Given the description of an element on the screen output the (x, y) to click on. 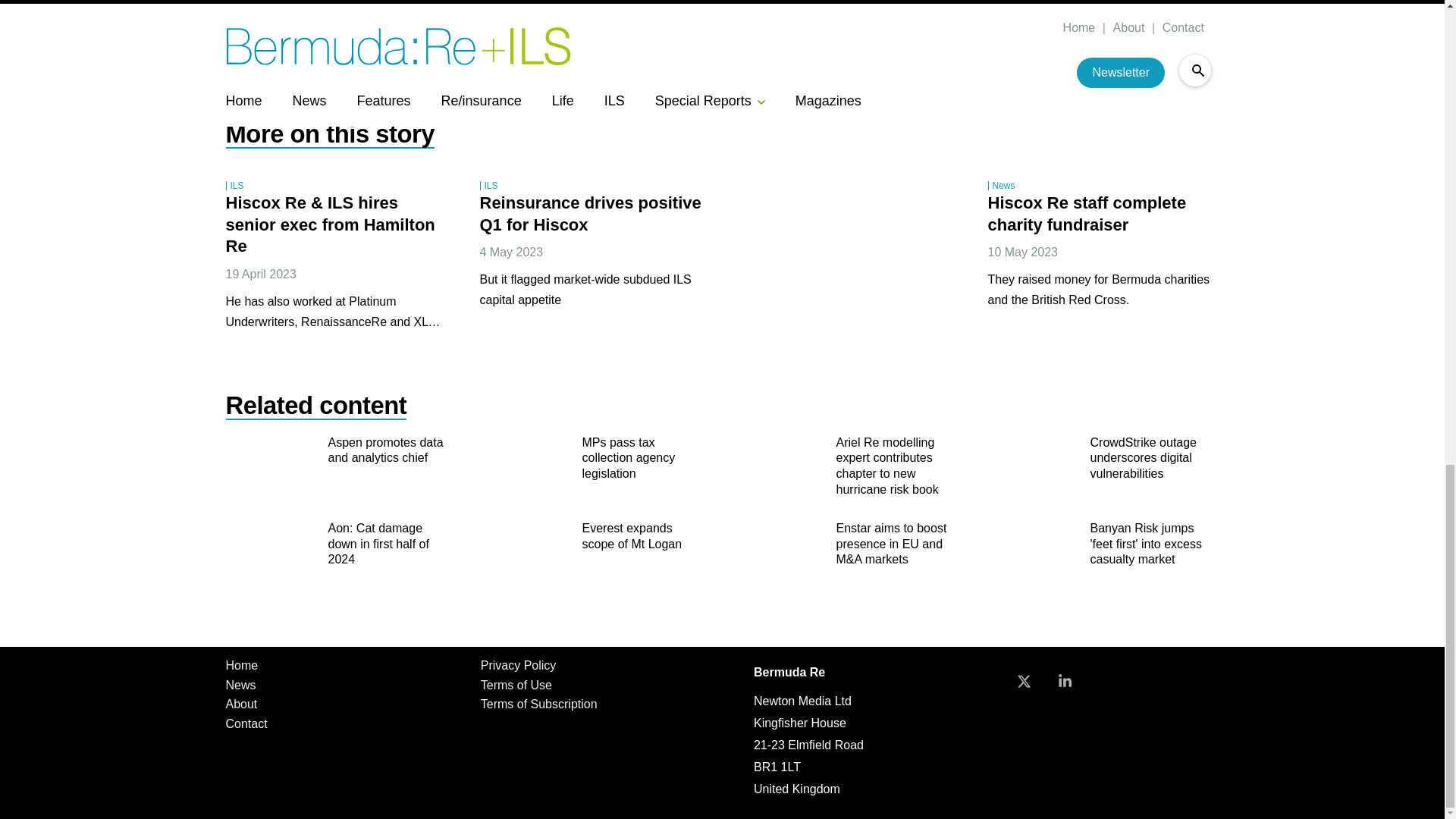
Reinsurance drives positive Q1 for Hiscox (591, 214)
Hiscox Re staff complete charity fundraiser (1089, 214)
3rd party ad content (848, 257)
